Given the description of an element on the screen output the (x, y) to click on. 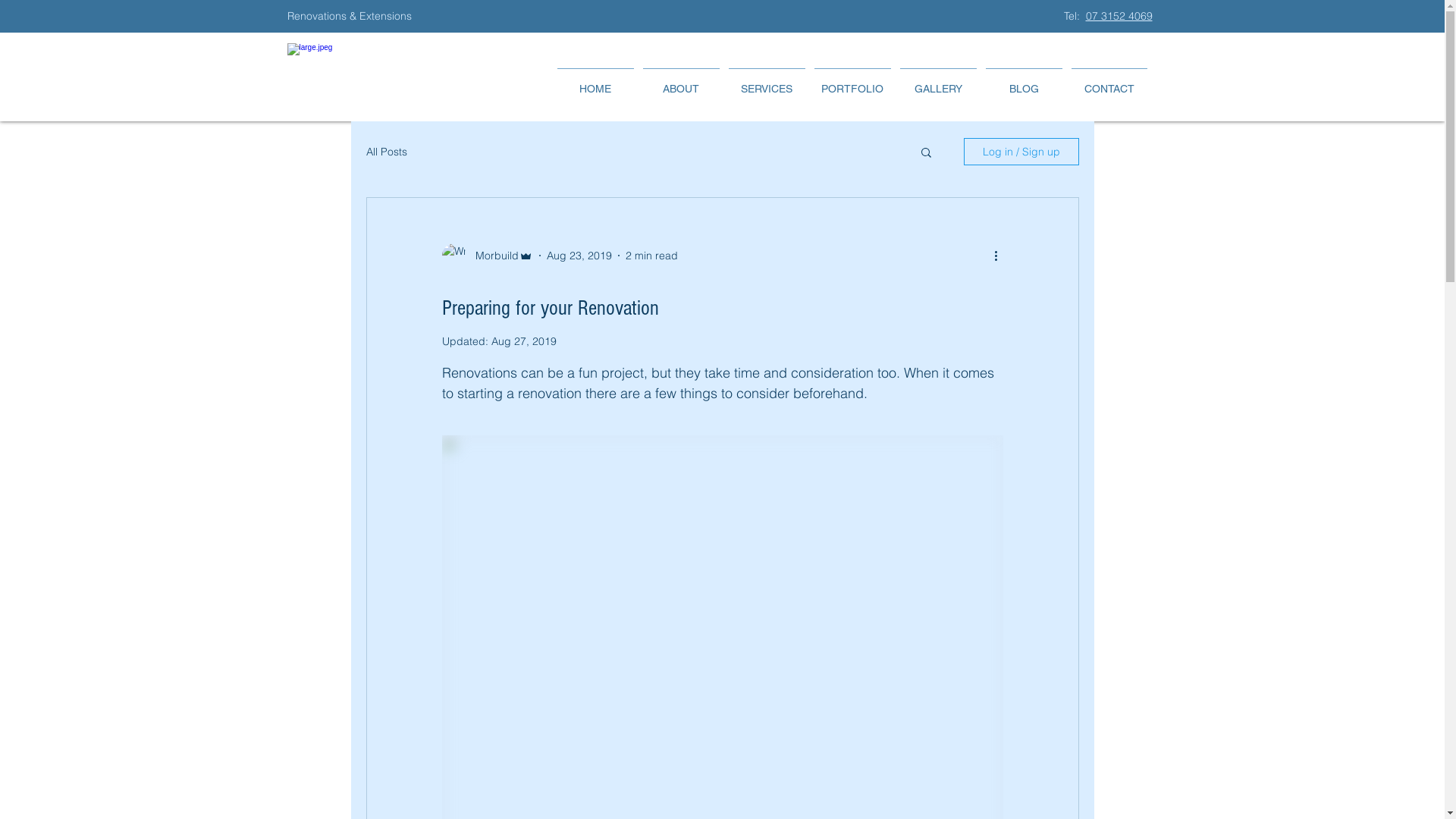
SERVICES Element type: text (766, 81)
CONTACT Element type: text (1108, 81)
GALLERY Element type: text (937, 81)
BLOG Element type: text (1023, 81)
Log in / Sign up Element type: text (1020, 151)
HOME Element type: text (594, 81)
All Posts Element type: text (385, 151)
07 3152 4069 Element type: text (1118, 15)
PORTFOLIO Element type: text (852, 81)
ABOUT Element type: text (681, 81)
Renovations & Extensions  Element type: text (350, 15)
